Given the description of an element on the screen output the (x, y) to click on. 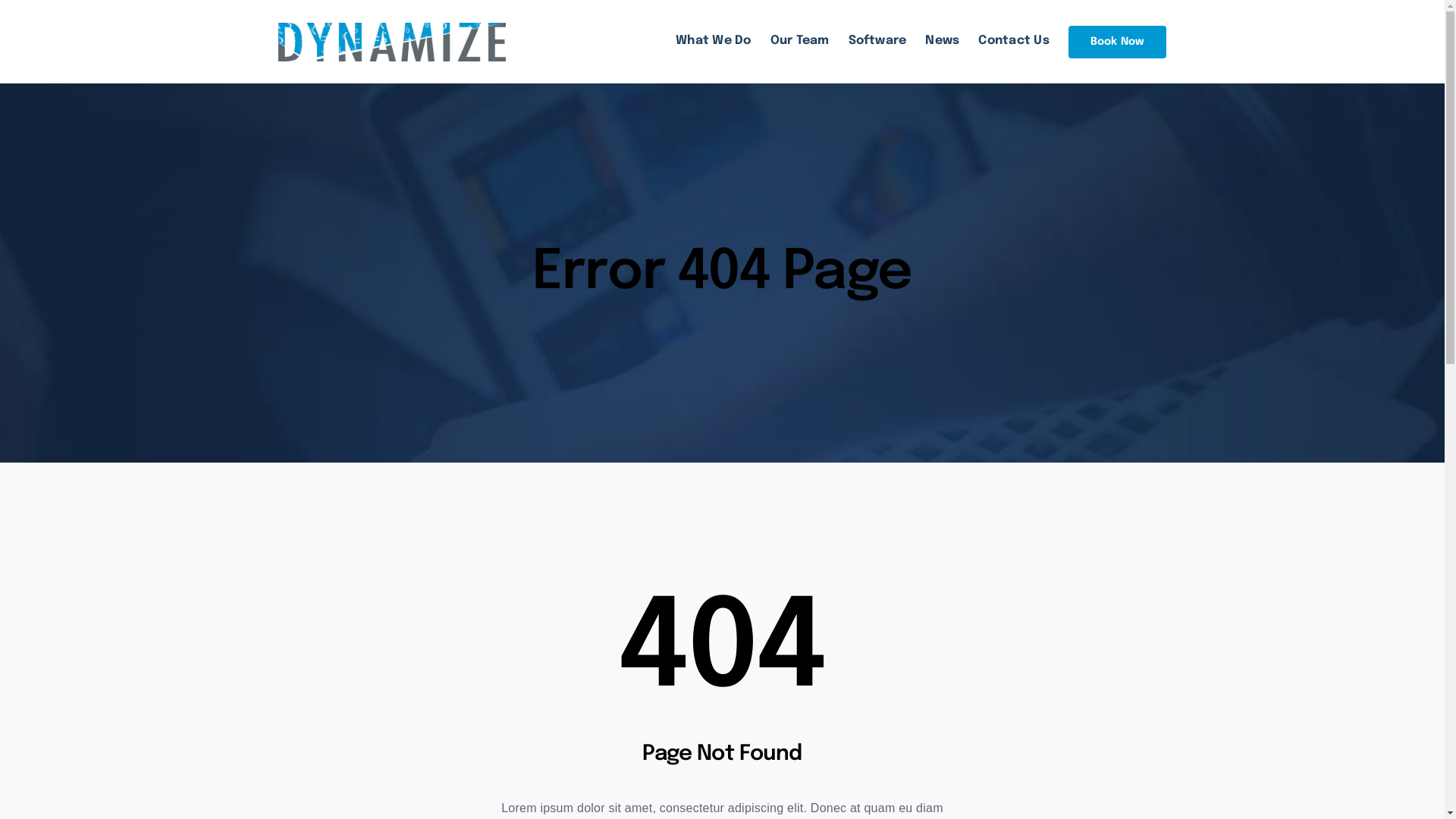
News Element type: text (942, 41)
Contact Us Element type: text (1013, 41)
Our Team Element type: text (799, 41)
What We Do Element type: text (712, 41)
Book Now Element type: text (1117, 41)
Software Element type: text (877, 41)
